Given the description of an element on the screen output the (x, y) to click on. 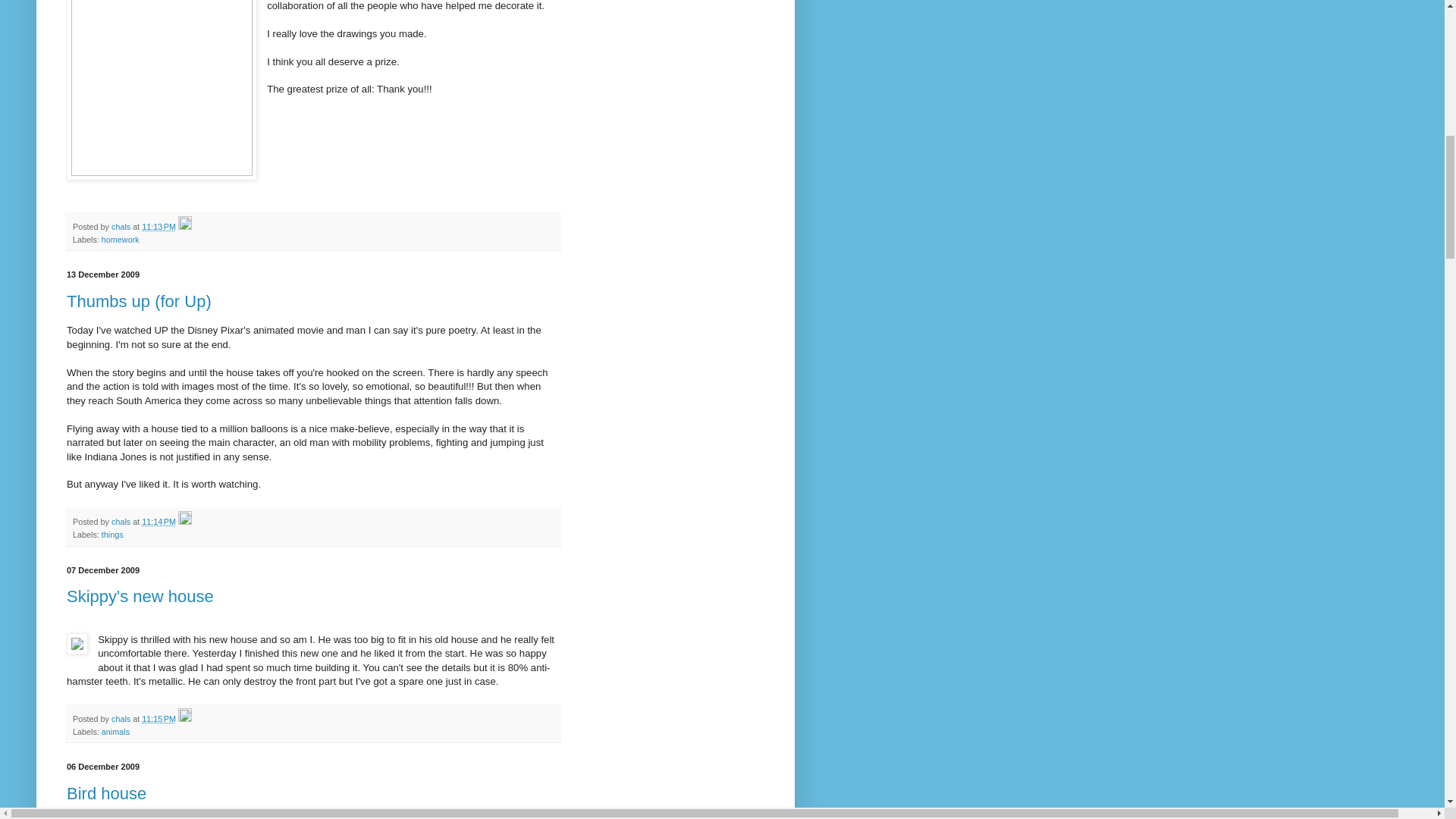
Edit Post (184, 521)
chals (122, 225)
permanent link (158, 225)
Skippy's new house (140, 596)
permanent link (158, 521)
animals (115, 731)
homework (120, 239)
chals (122, 521)
Edit Post (184, 718)
author profile (122, 225)
author profile (122, 521)
Edit Post (184, 225)
Bird house (106, 793)
